Given the description of an element on the screen output the (x, y) to click on. 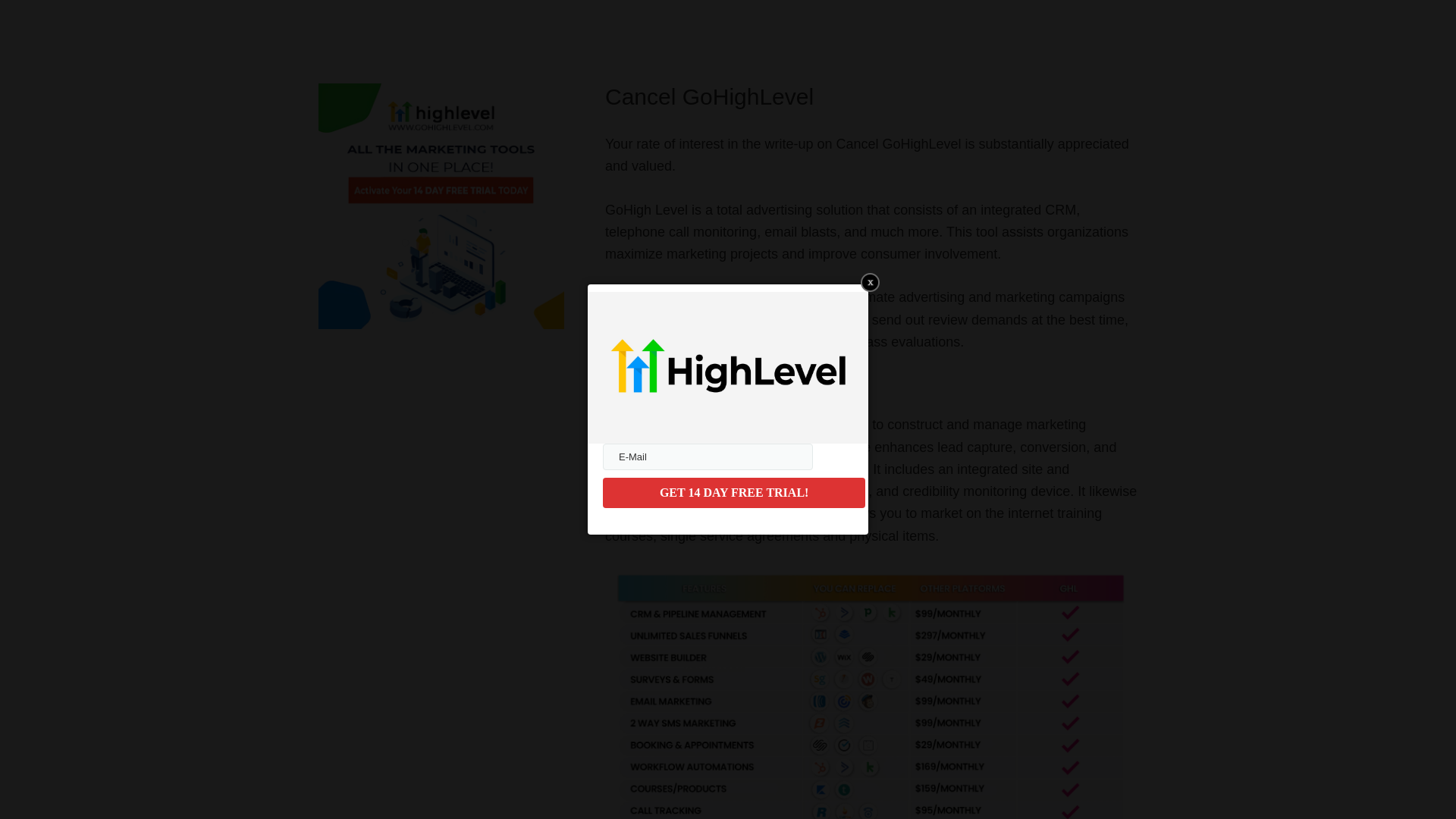
GET 14 DAY FREE TRIAL! (733, 492)
GET 14 DAY FREE TRIAL! (733, 492)
